Given the description of an element on the screen output the (x, y) to click on. 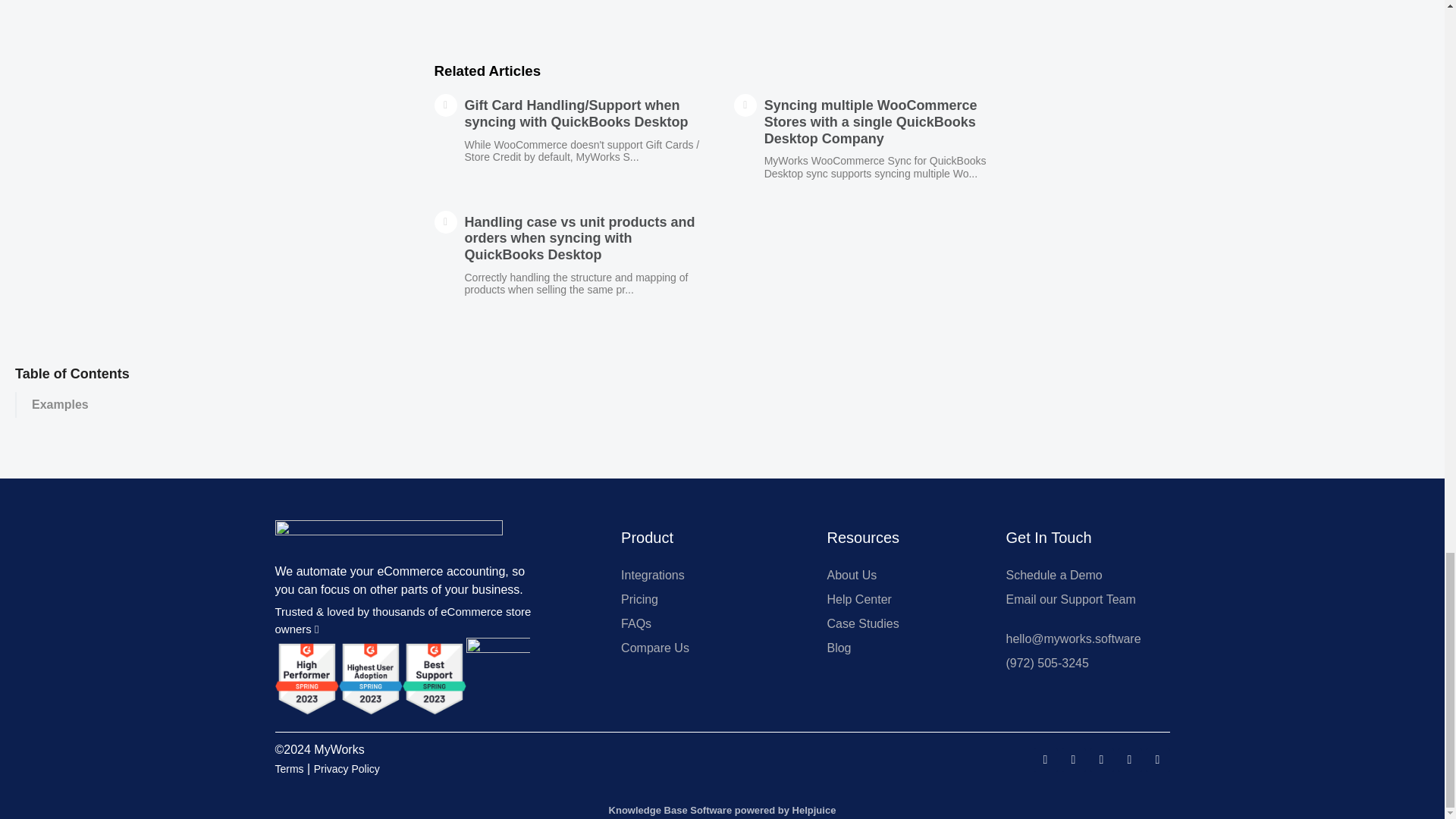
Email our Support Team (1080, 599)
Compare Us (708, 648)
Case Studies (901, 623)
FAQs (708, 623)
Schedule a Demo (1080, 575)
About Us (901, 575)
Blog (901, 648)
Help Center (901, 599)
